Given the description of an element on the screen output the (x, y) to click on. 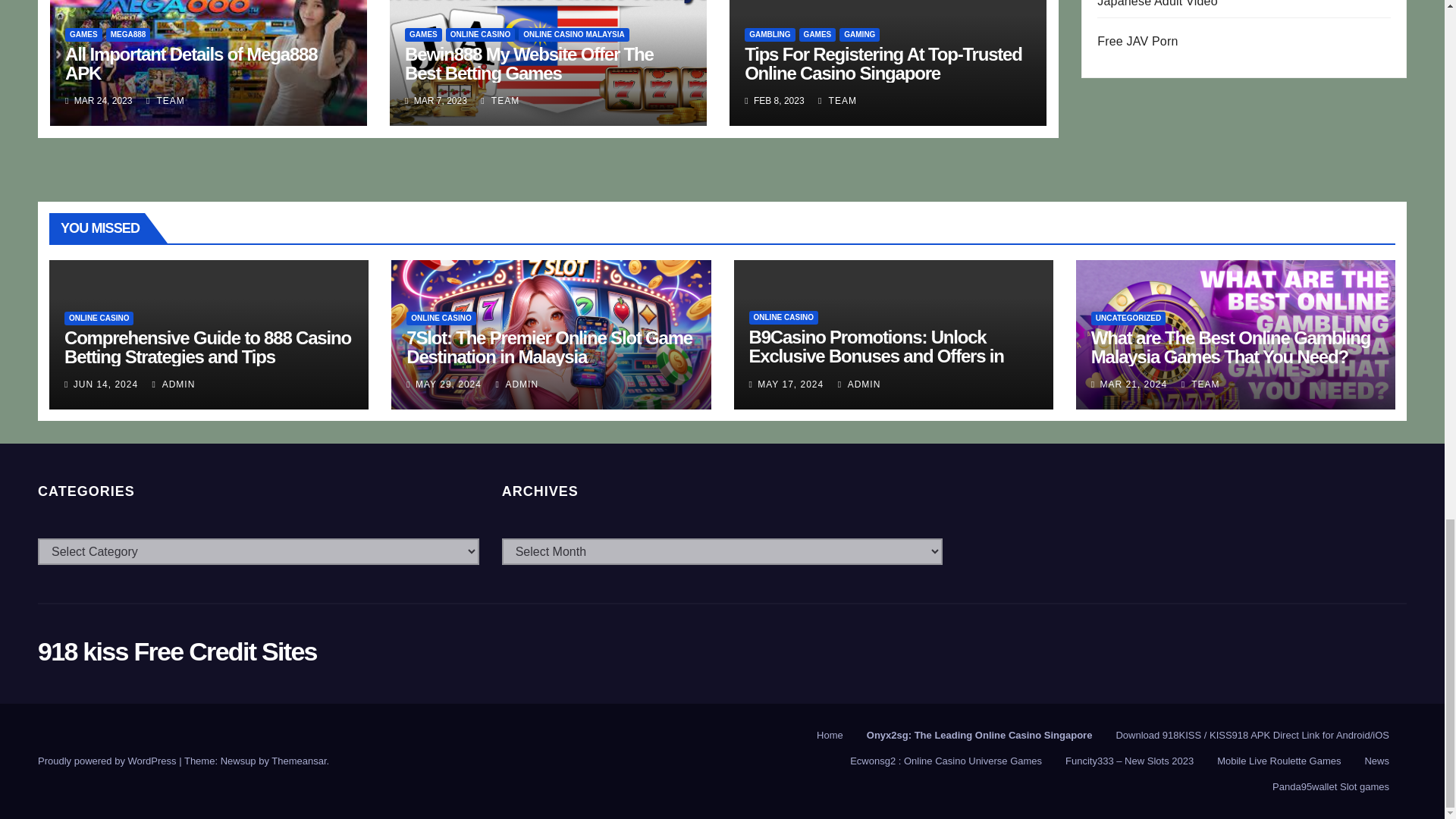
GAMES (423, 34)
MEGA888 (128, 34)
Permalink to: All Important Details of Mega888 APK (191, 63)
GAMES (83, 34)
All Important Details of Mega888 APK (191, 63)
TEAM (165, 100)
Home (829, 735)
